Given the description of an element on the screen output the (x, y) to click on. 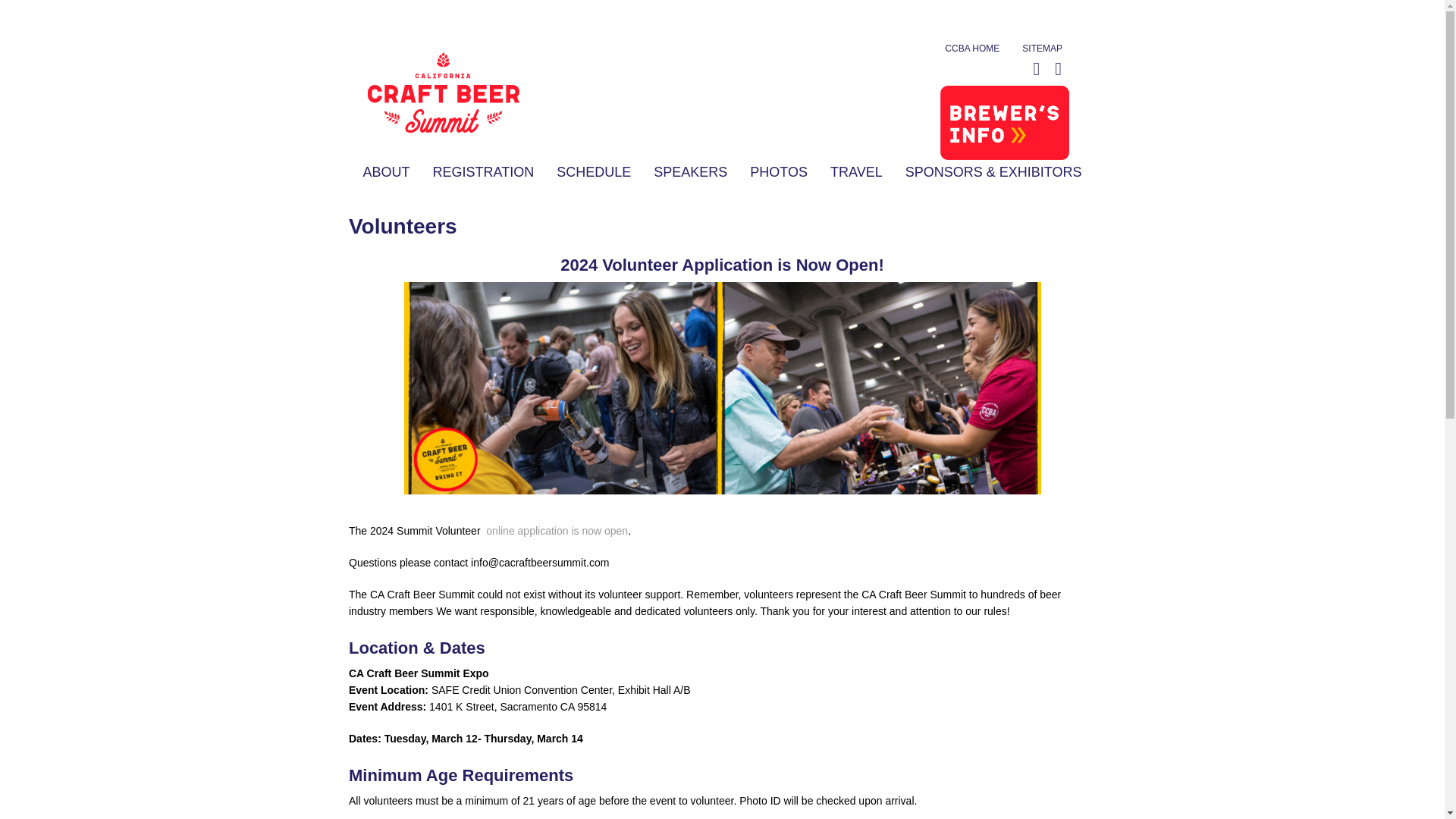
SITEMAP (1042, 48)
REGISTRATION (483, 171)
CCBA HOME (971, 48)
SCHEDULE (593, 171)
Follow us on Twitter (1035, 70)
ABOUT (386, 171)
SPEAKERS (689, 171)
TRAVEL (855, 171)
Find us on Facebook (1057, 70)
PHOTOS (778, 171)
2024 Craft Beer Summit Home (434, 128)
